Given the description of an element on the screen output the (x, y) to click on. 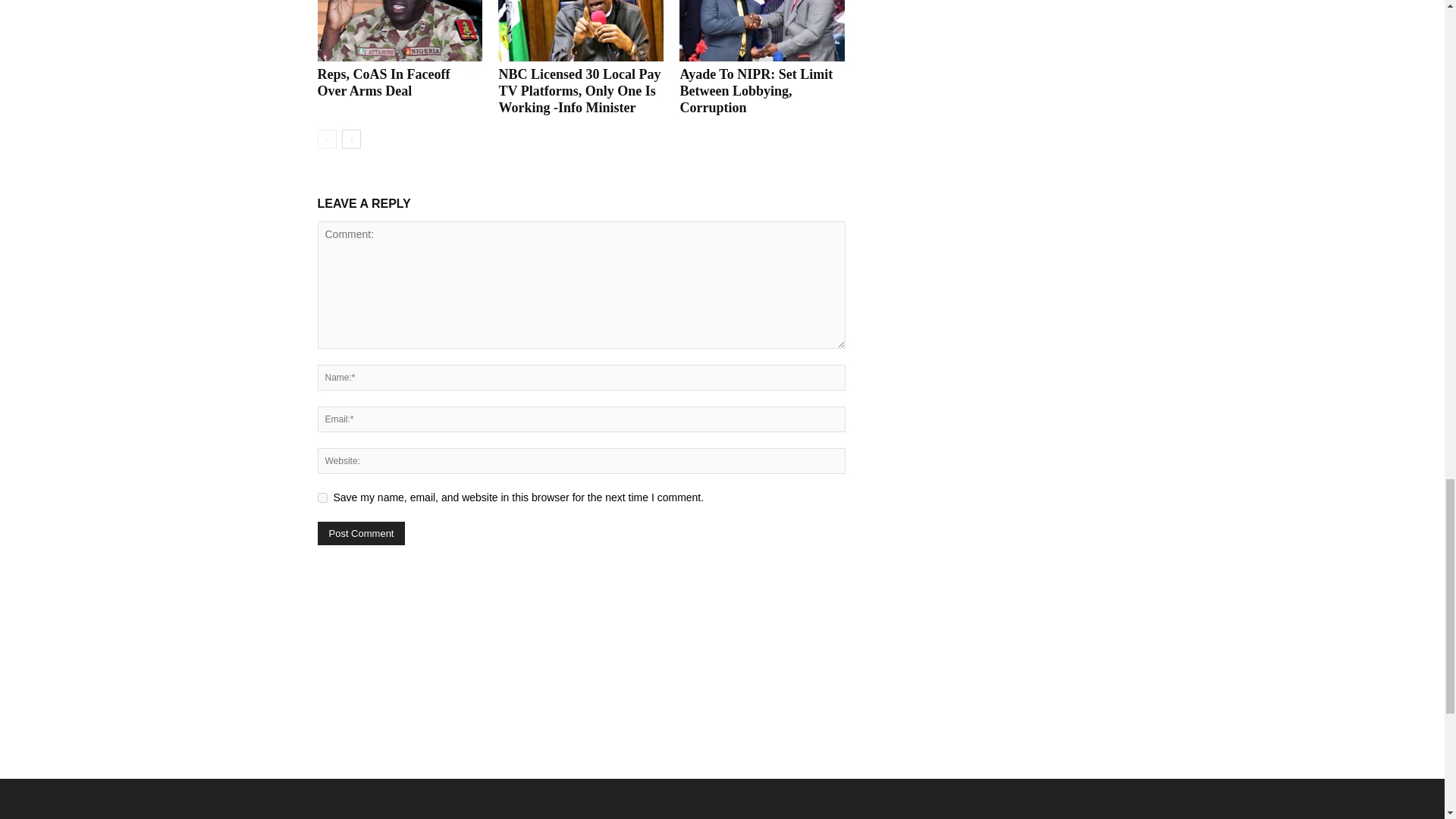
yes (321, 497)
Post Comment (360, 533)
